Given the description of an element on the screen output the (x, y) to click on. 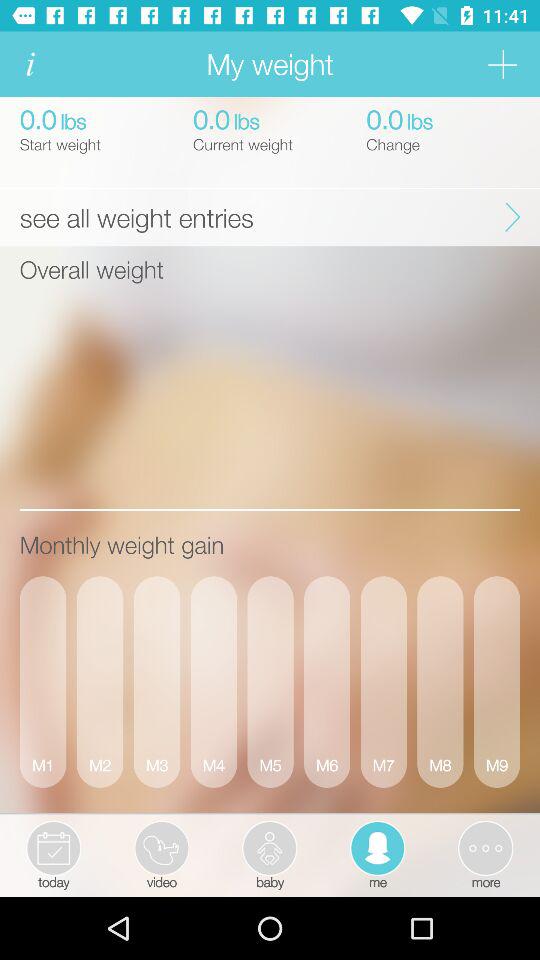
select the icon next to my weight icon (30, 63)
